Given the description of an element on the screen output the (x, y) to click on. 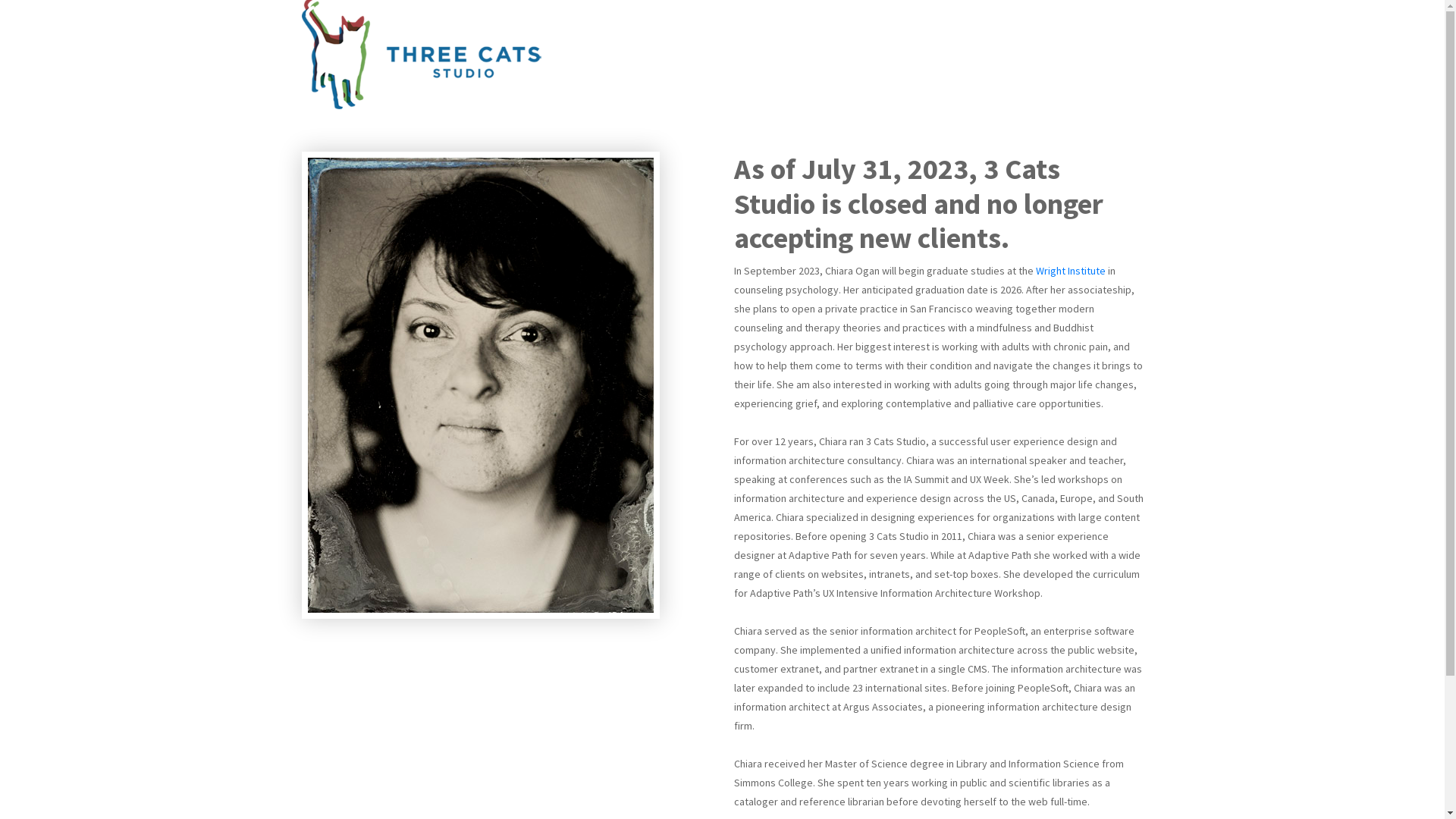
Wright Institute Element type: text (1070, 270)
